Given the description of an element on the screen output the (x, y) to click on. 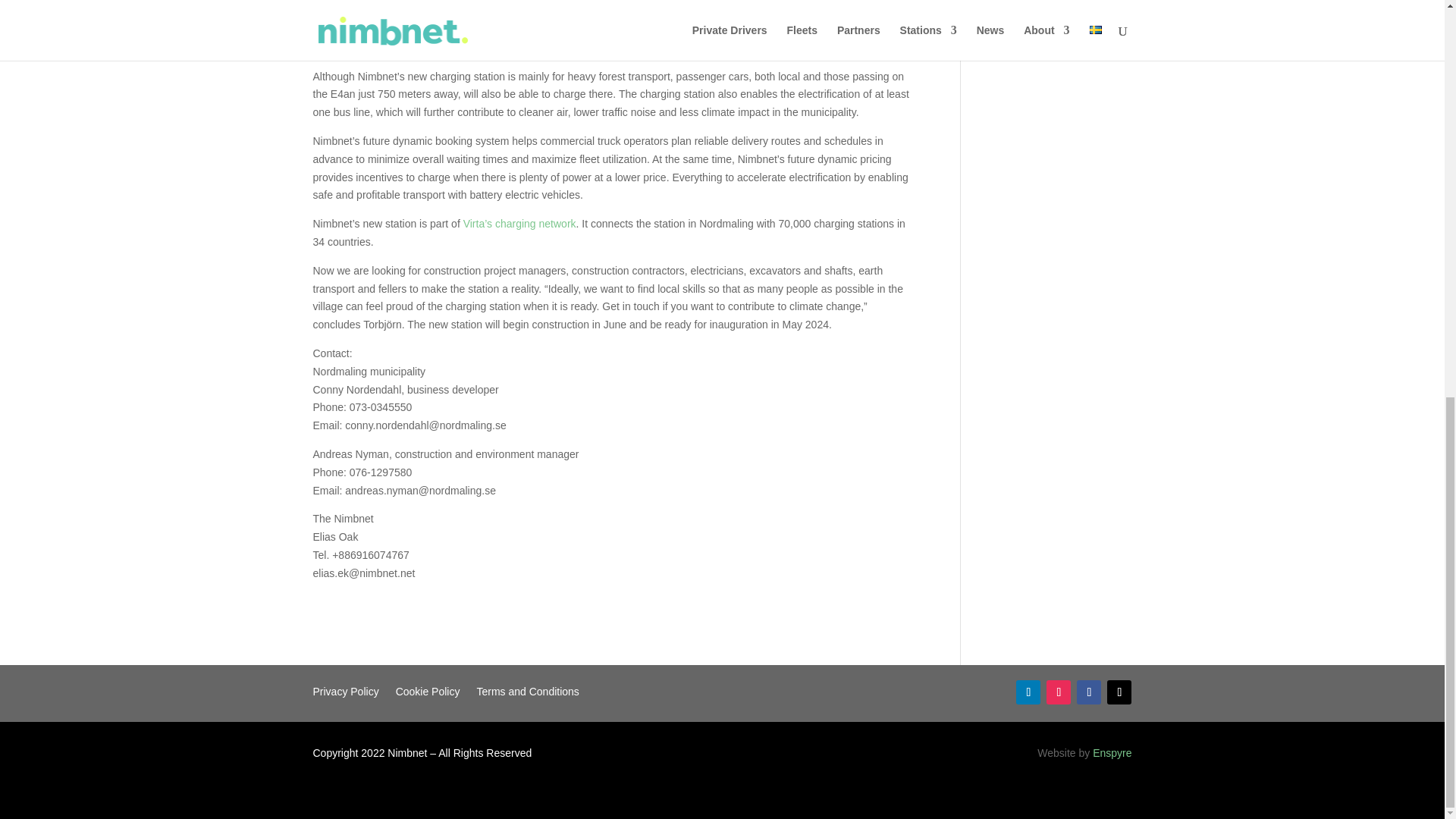
Follow on X (1118, 692)
Terms and Conditions (527, 694)
Enspyre (1112, 752)
Cookie Policy (428, 694)
Follow on Facebook (1088, 692)
Privacy Policy (345, 694)
Follow on Instagram (1058, 692)
Follow on LinkedIn (1028, 692)
